Given the description of an element on the screen output the (x, y) to click on. 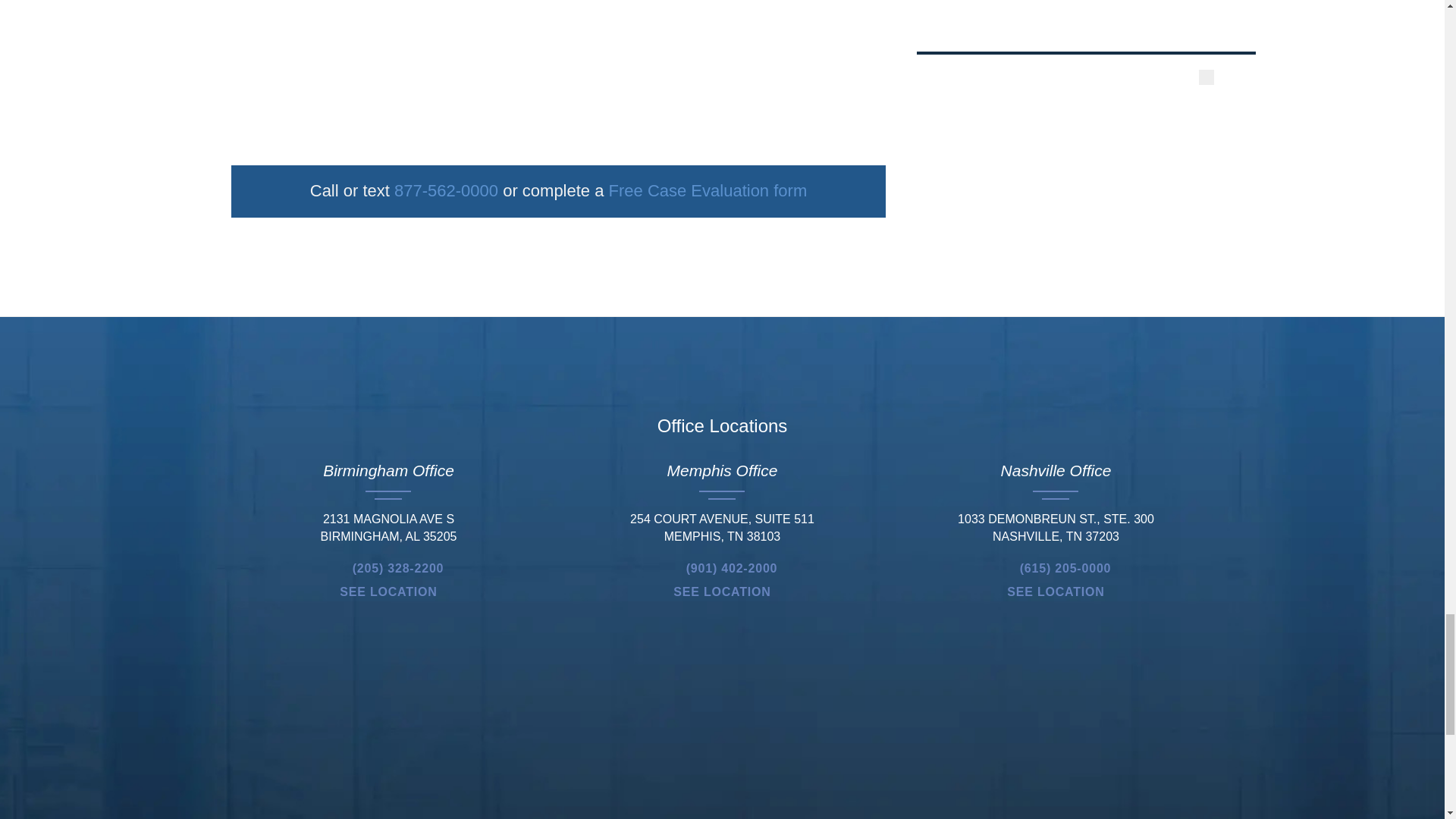
Call to Cory Watson Attorneys (721, 569)
Call to Cory Watson Attorneys (1056, 569)
Nashville Office Directions (1055, 592)
Birmingham Office Directions (387, 592)
877-562-0000 (445, 189)
Call to Cory Watson Attorneys (388, 569)
Memphis Office Directions (721, 592)
